Given the description of an element on the screen output the (x, y) to click on. 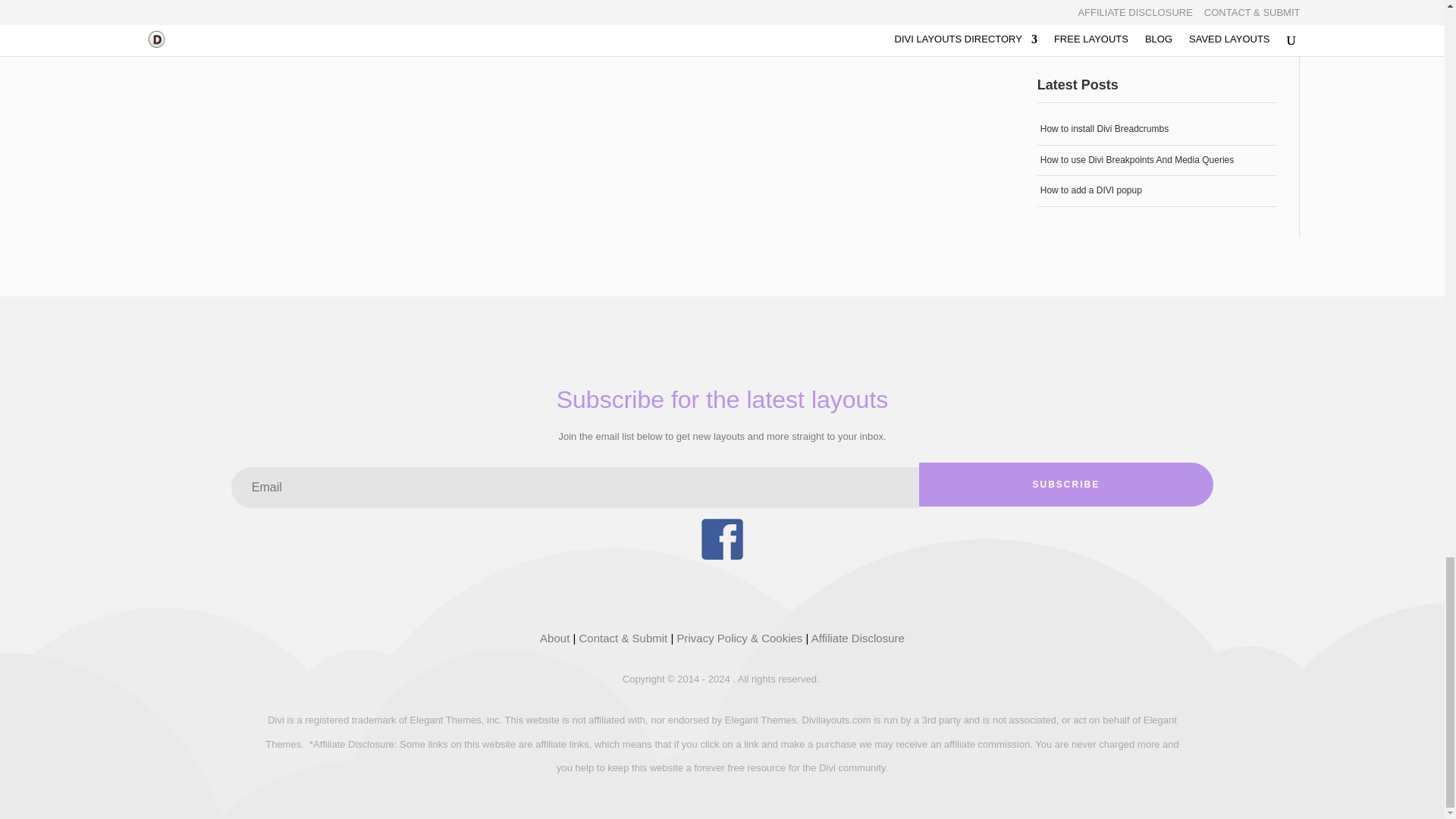
Divi Layouts Facebook group (721, 555)
